Given the description of an element on the screen output the (x, y) to click on. 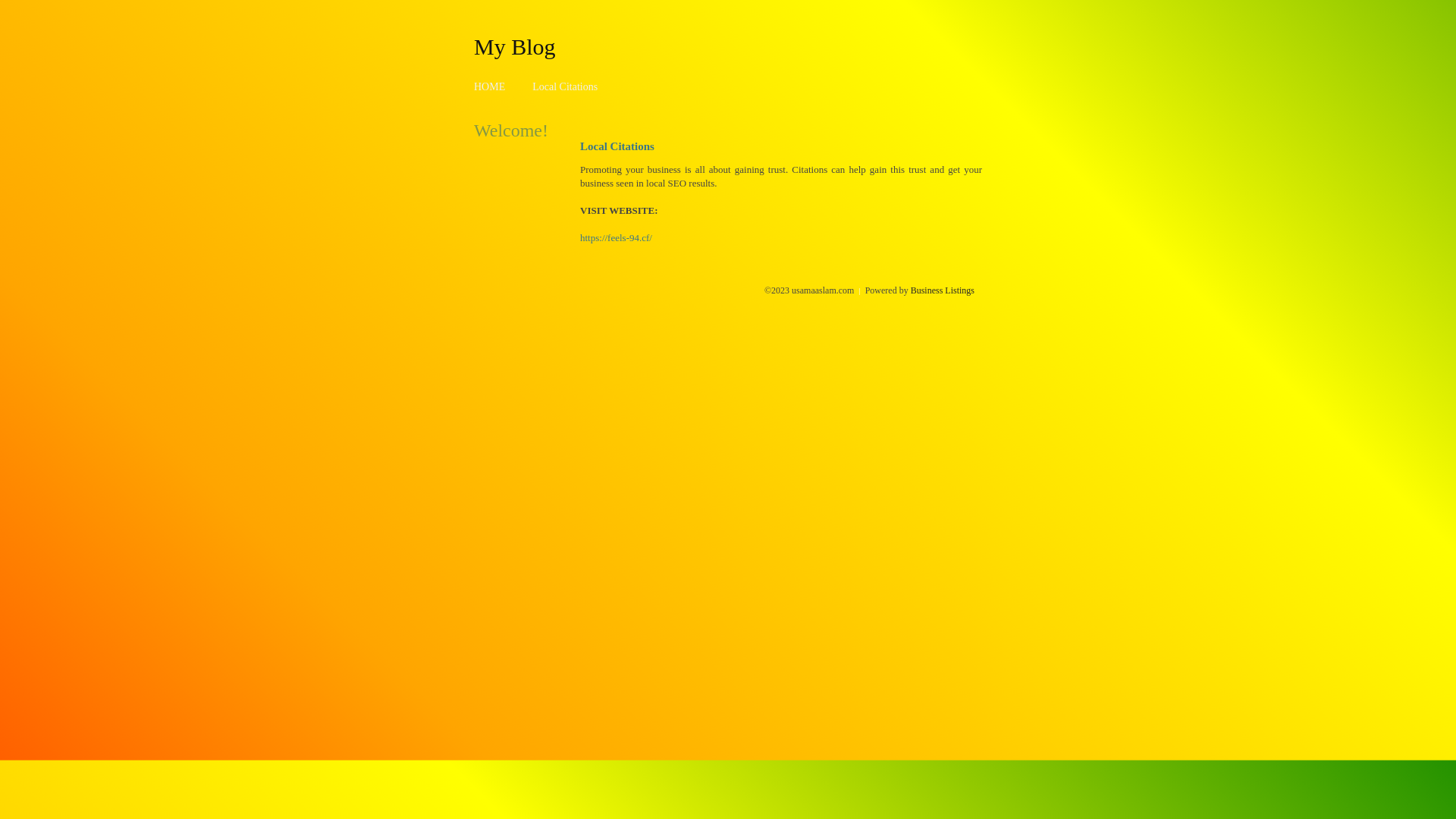
https://feels-94.cf/ Element type: text (616, 237)
My Blog Element type: text (514, 46)
HOME Element type: text (489, 86)
Local Citations Element type: text (564, 86)
Business Listings Element type: text (942, 290)
